Given the description of an element on the screen output the (x, y) to click on. 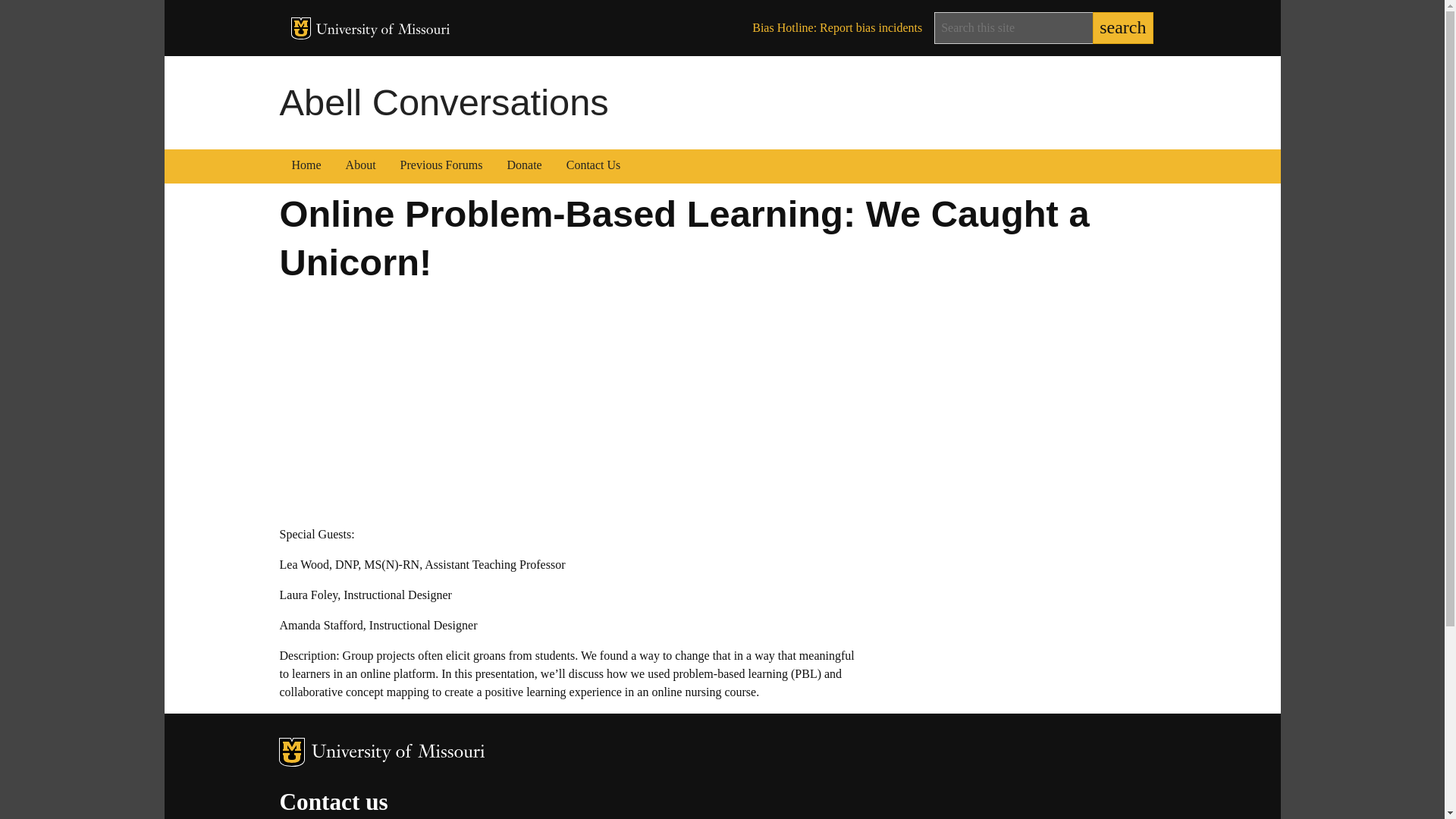
About (360, 166)
search (1123, 28)
University of Missouri (397, 752)
MU Logo (301, 27)
Donate (524, 166)
Bias Hotline: Report bias incidents (836, 28)
Abell Conversations (443, 101)
MU Logo (291, 751)
Abell Conversations (443, 101)
Home (306, 166)
Previous Forums (441, 166)
Online Problem-Based Learning: We Caught a Unicorn! (468, 400)
University of Missouri (382, 30)
Contact Us (593, 166)
